Given the description of an element on the screen output the (x, y) to click on. 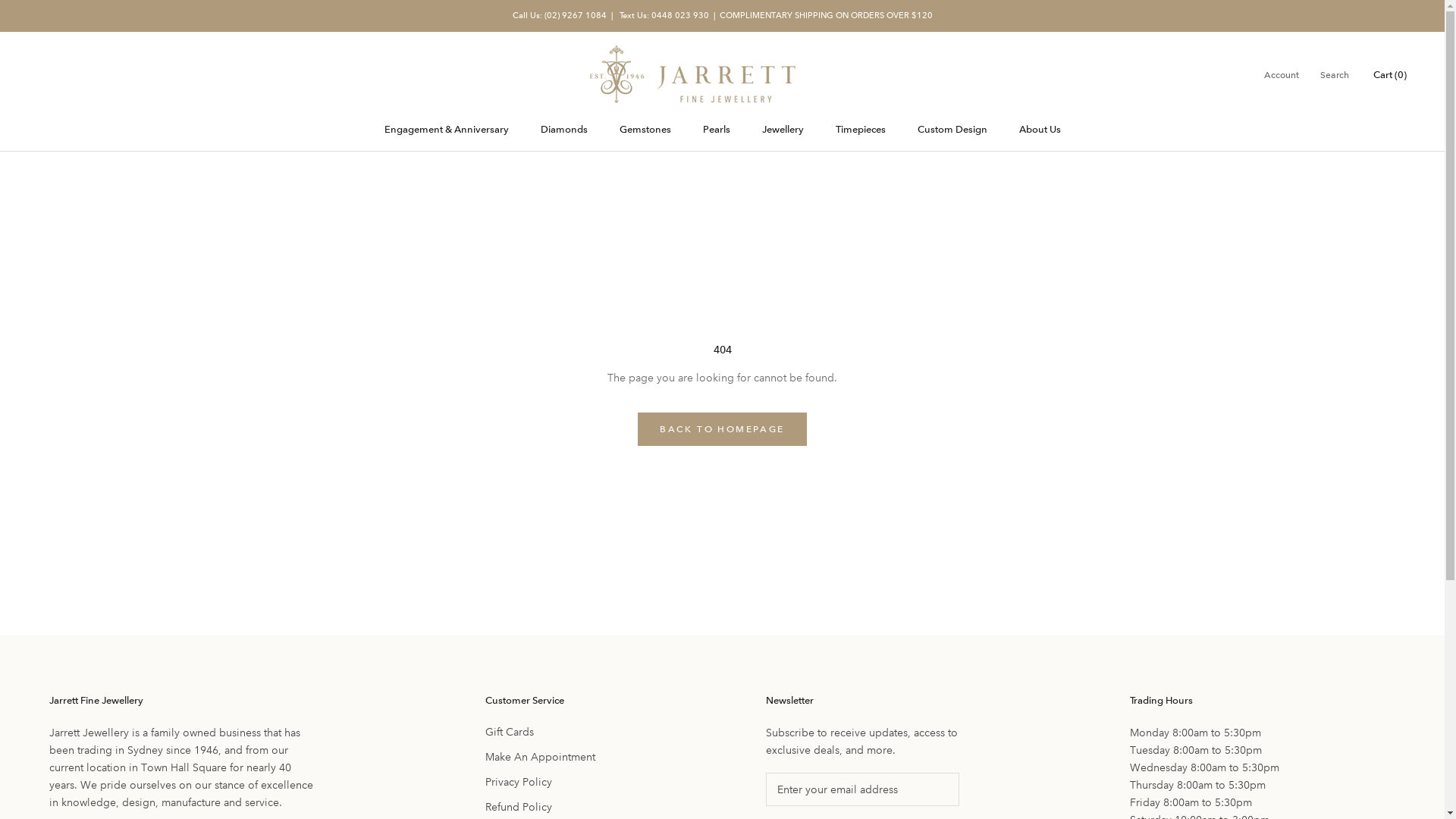
Timepieces
Timepieces Element type: text (860, 128)
Custom Design
Custom Design Element type: text (952, 128)
Gemstones
Gemstones Element type: text (644, 128)
Search Element type: text (1334, 75)
Account Element type: text (1281, 75)
Refund Policy Element type: text (540, 807)
About Us
About Us Element type: text (1039, 128)
Make An Appointment Element type: text (540, 757)
Text Us: 0448 023 930 Element type: text (663, 15)
Pearls
Pearls Element type: text (715, 128)
Diamonds
Diamonds Element type: text (562, 128)
Privacy Policy Element type: text (540, 782)
Call Us: (02) 9267 1084 Element type: text (559, 15)
BACK TO HOMEPAGE Element type: text (721, 428)
Gift Cards Element type: text (540, 732)
Jewellery
Jewellery Element type: text (782, 128)
Engagement & Anniversary
Engagement & Anniversary Element type: text (445, 128)
Cart (0) Element type: text (1389, 74)
